Given the description of an element on the screen output the (x, y) to click on. 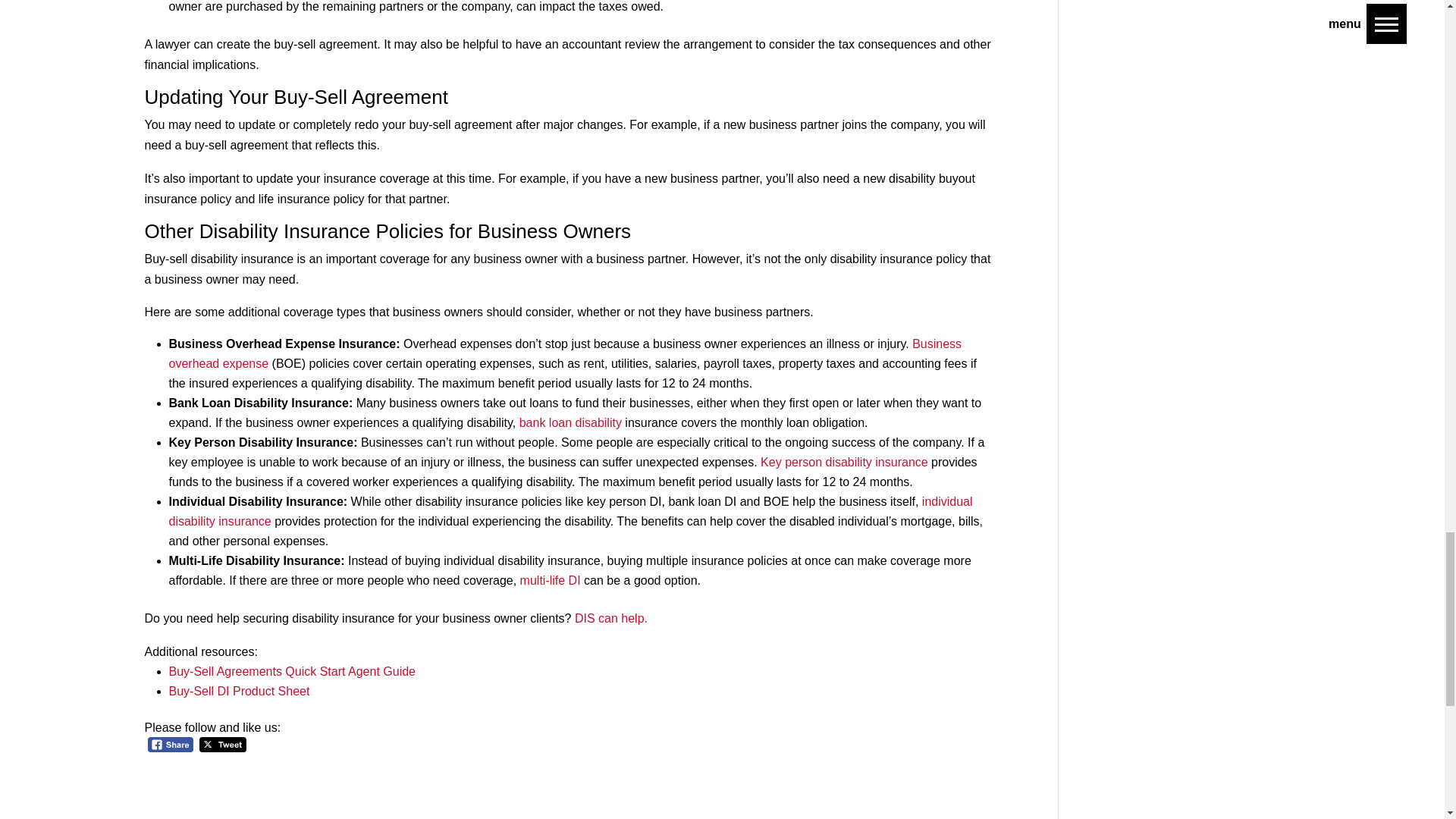
Buy-Sell Agreements Quick Start Agent Guide (291, 671)
Business overhead expense (564, 353)
DIS can help. (611, 617)
Key person disability insurance (844, 461)
Buy-Sell DI Product Sheet (238, 690)
bank loan disability (570, 422)
multi-life DI (549, 580)
Facebook Share (170, 744)
individual disability insurance (570, 511)
Tweet (222, 744)
